Given the description of an element on the screen output the (x, y) to click on. 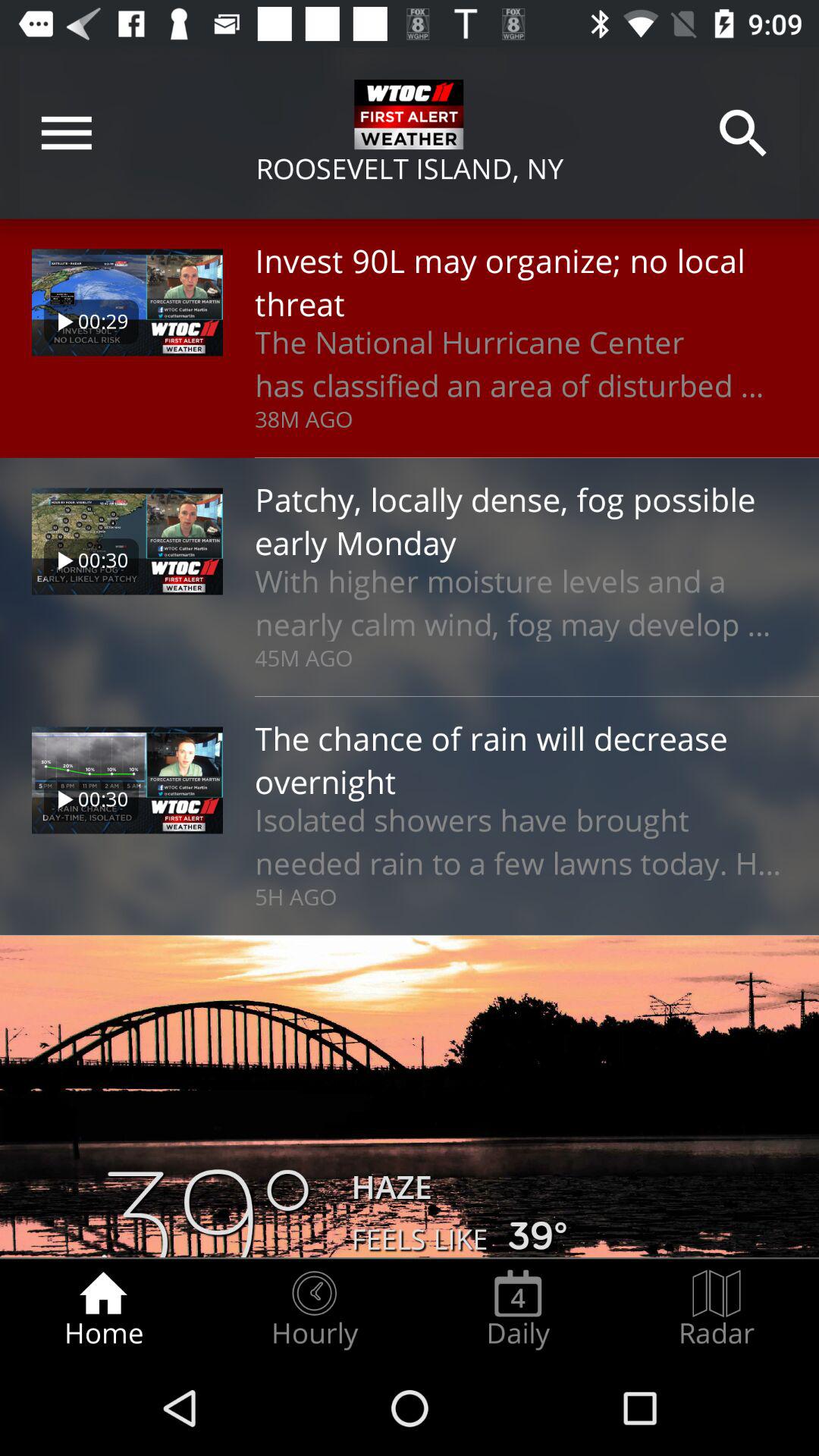
swipe to radar (716, 1309)
